Given the description of an element on the screen output the (x, y) to click on. 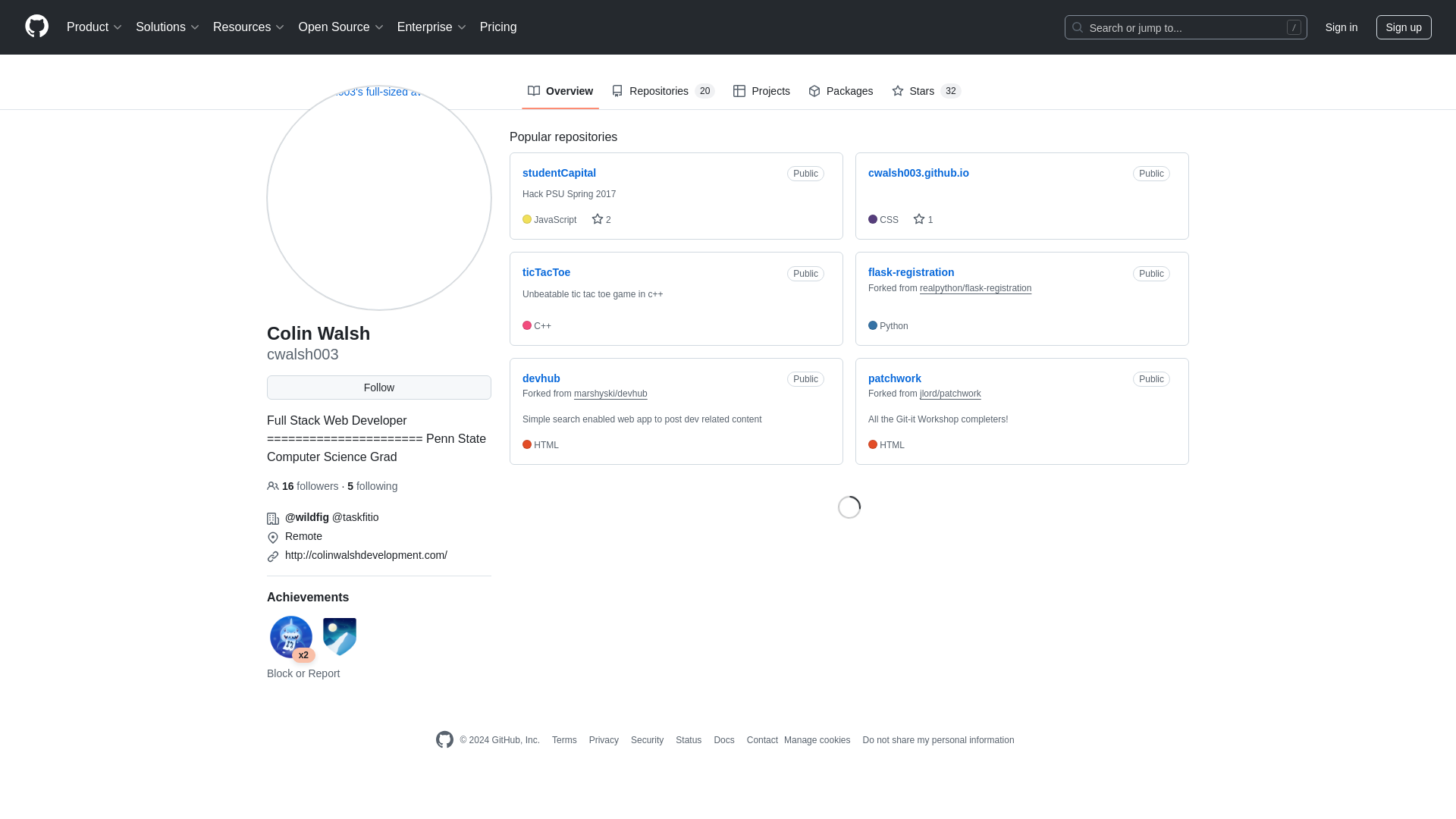
32 (950, 90)
20 (704, 90)
GitHub (443, 740)
Open Source (341, 27)
Resources (249, 27)
Product (95, 27)
Solutions (167, 27)
